Given the description of an element on the screen output the (x, y) to click on. 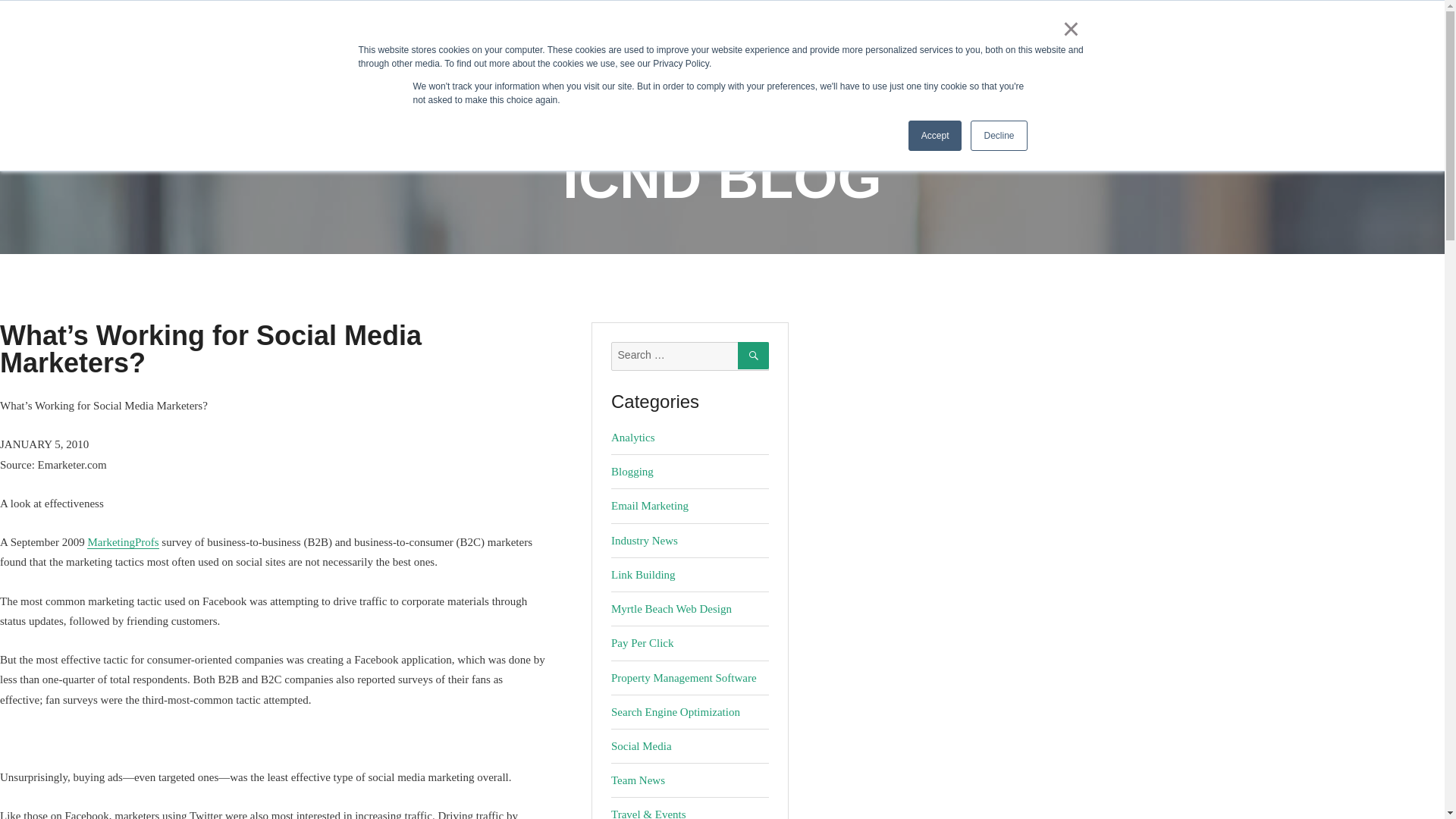
ICND (57, 51)
WEBSITES (461, 70)
866.249.6095 (1079, 17)
Accept (935, 135)
ABOUT (734, 70)
CONTACT (819, 70)
MARKETING (564, 70)
LEARN (657, 70)
CONTACT SUPPORT (1220, 16)
MarketingProfs (122, 541)
GET A QUOTE (1366, 16)
Decline (998, 135)
SEARCH (753, 355)
